Given the description of an element on the screen output the (x, y) to click on. 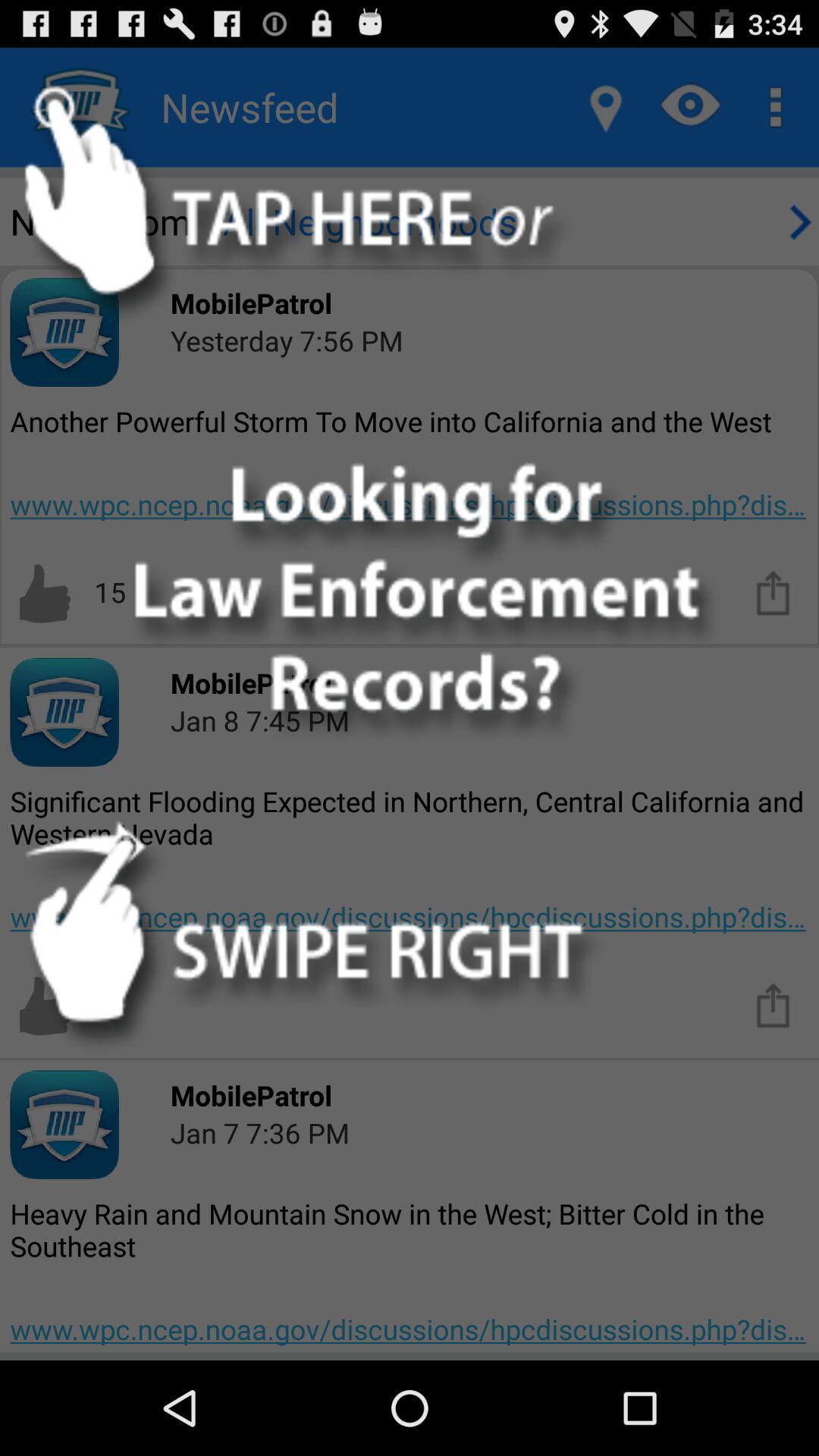
download the app option (774, 592)
